Given the description of an element on the screen output the (x, y) to click on. 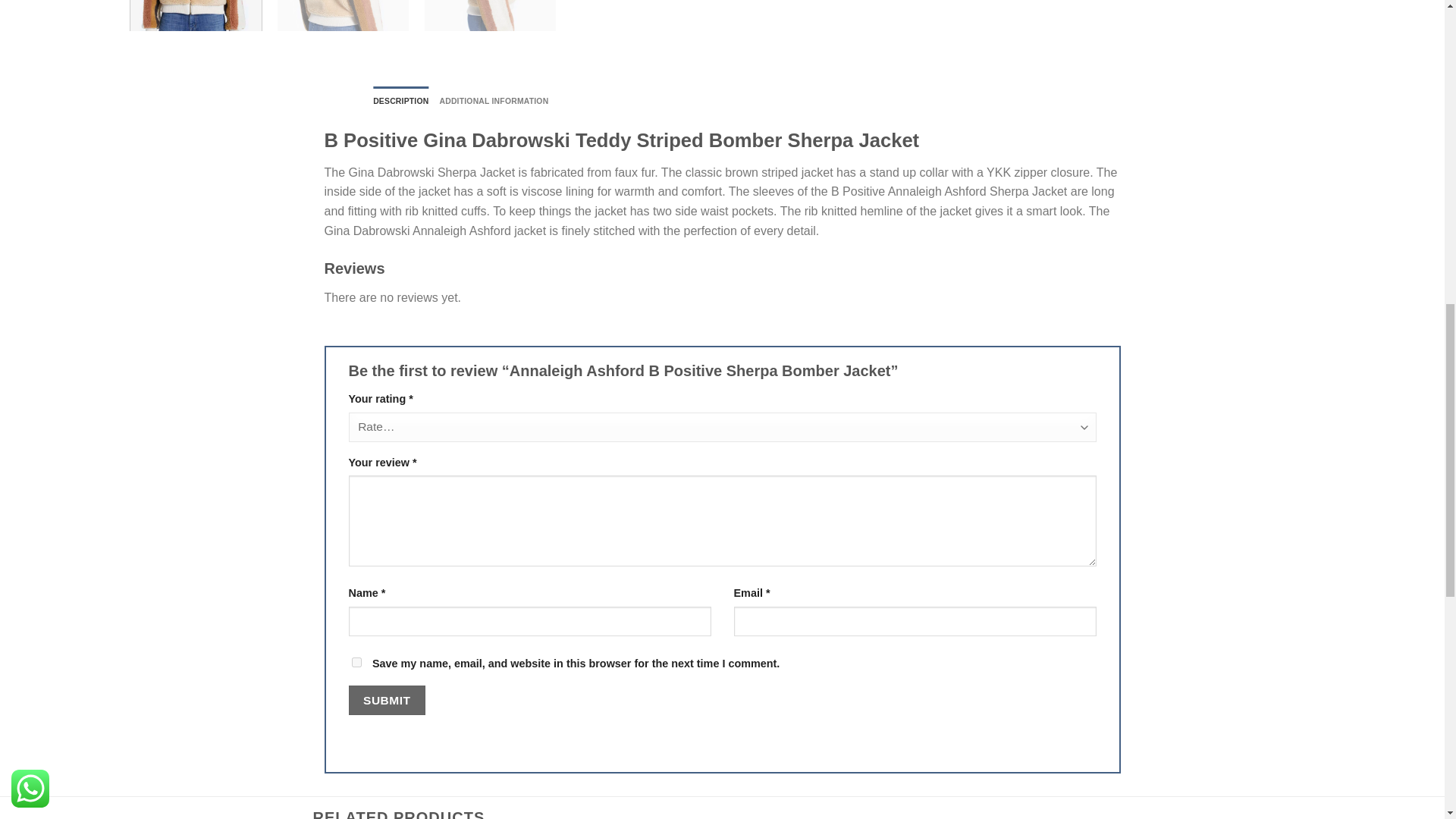
Submit (387, 699)
yes (356, 662)
